Given the description of an element on the screen output the (x, y) to click on. 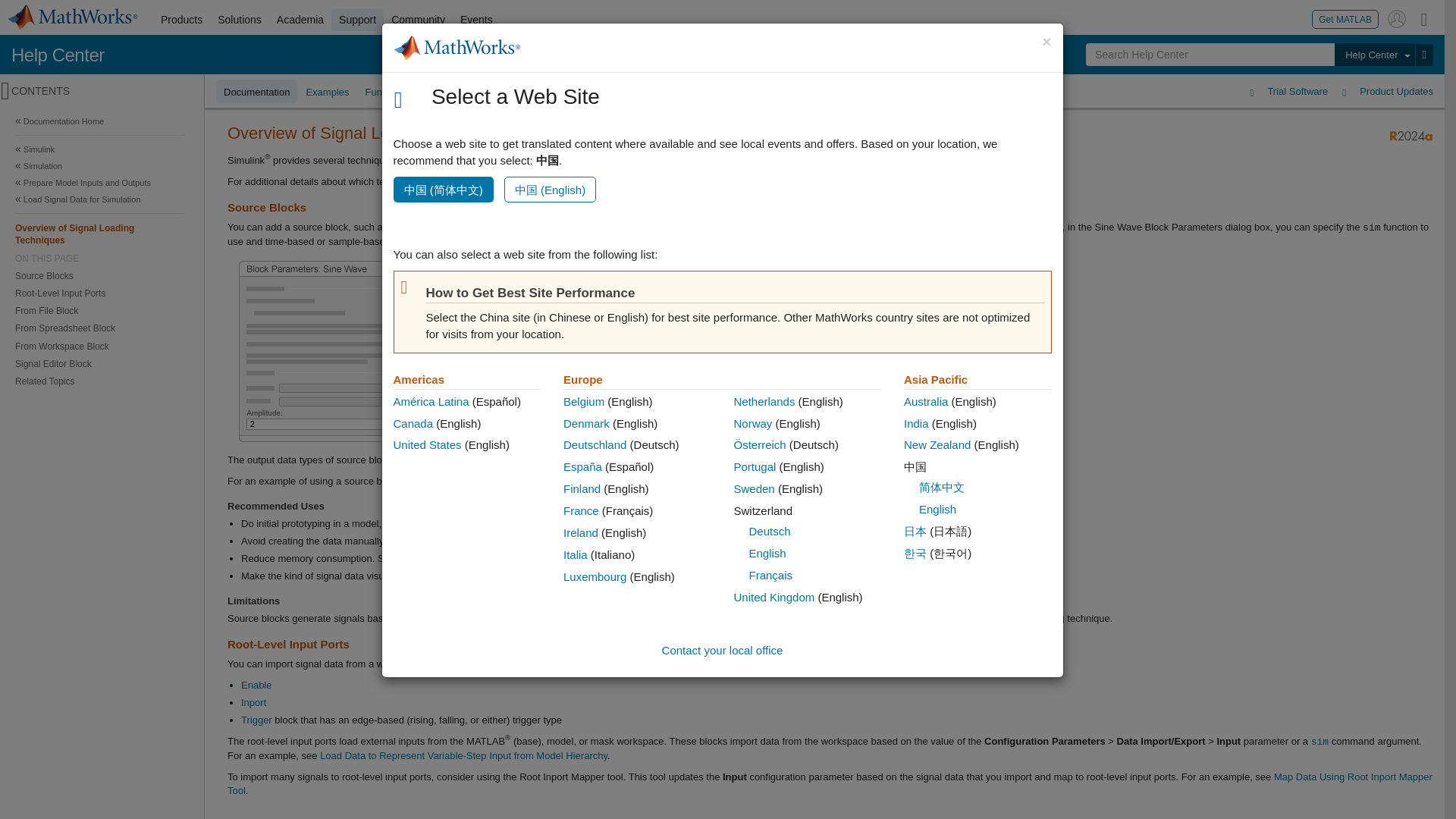
Support (357, 19)
Events (476, 19)
Products (180, 19)
Community (418, 19)
ON THIS PAGE (100, 258)
Academia (300, 19)
Sign In to Your MathWorks Account (1396, 18)
Get MATLAB (1344, 18)
Overview of Signal Loading Techniques (100, 233)
Solutions (239, 19)
Matrix Menu (1423, 18)
